Given the description of an element on the screen output the (x, y) to click on. 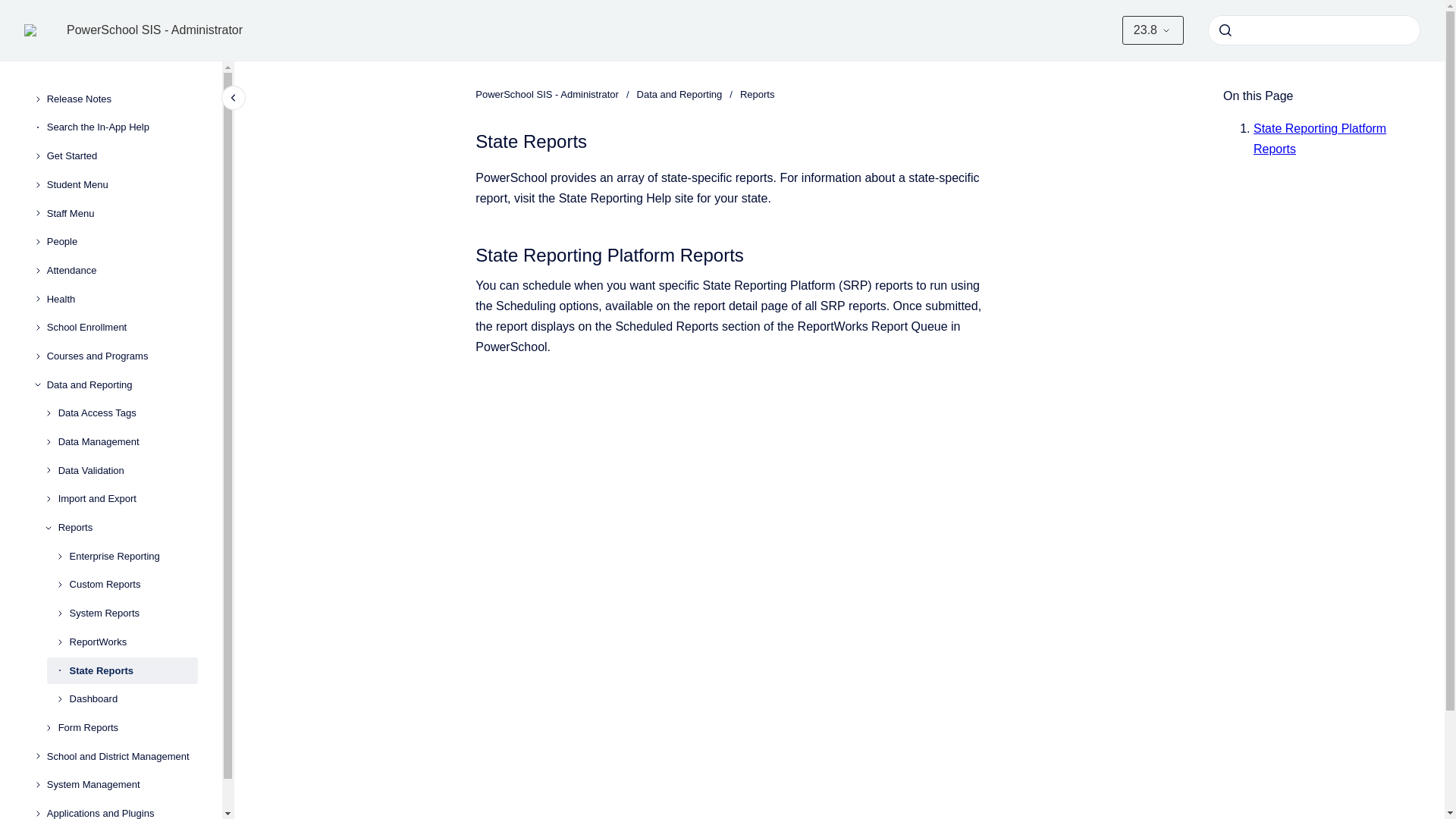
Copy to clipboard (468, 253)
PowerSchool SIS - Administrator (154, 29)
Data Management (128, 441)
Data Access Tags (128, 413)
Get Started (122, 155)
23.8 (1152, 30)
Release Notes (122, 99)
Enterprise Reporting (133, 556)
School Enrollment (122, 327)
Staff Menu (122, 213)
Data Validation (128, 470)
Courses and Programs (122, 356)
Search the In-App Help (122, 127)
Reports (128, 527)
